Given the description of an element on the screen output the (x, y) to click on. 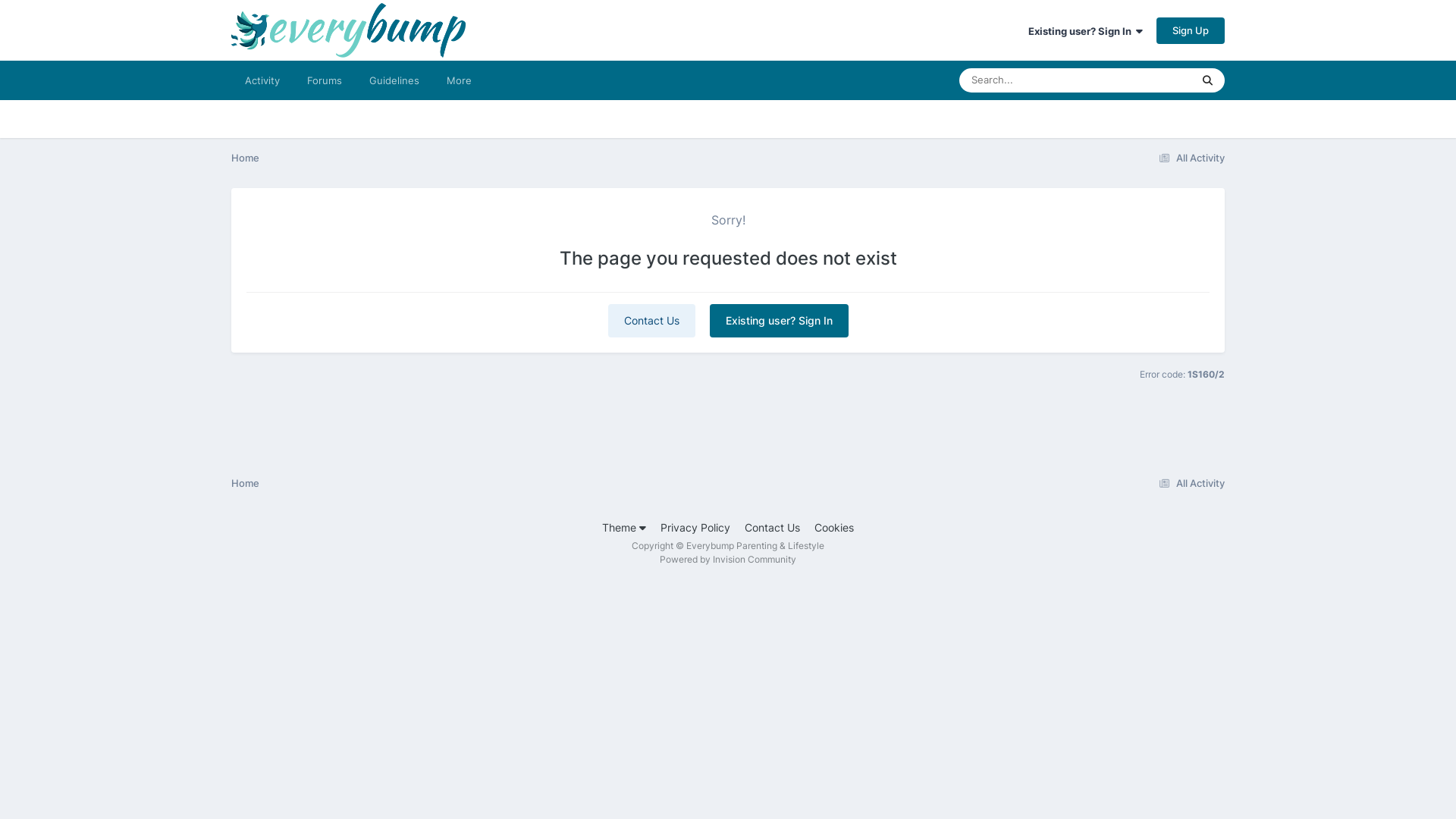
Powered by Invision Community Element type: text (727, 558)
Sign Up Element type: text (1190, 29)
All Activity Element type: text (1189, 482)
More Element type: text (459, 80)
Cookies Element type: text (833, 526)
All Activity Element type: text (1189, 157)
Privacy Policy Element type: text (695, 526)
Forums Element type: text (324, 80)
Home Element type: text (245, 482)
Home Element type: text (245, 157)
Existing user? Sign In Element type: text (778, 320)
Existing user? Sign In   Element type: text (1085, 31)
Theme Element type: text (624, 526)
Contact Us Element type: text (651, 320)
Activity Element type: text (262, 80)
Guidelines Element type: text (394, 80)
Contact Us Element type: text (772, 526)
